Given the description of an element on the screen output the (x, y) to click on. 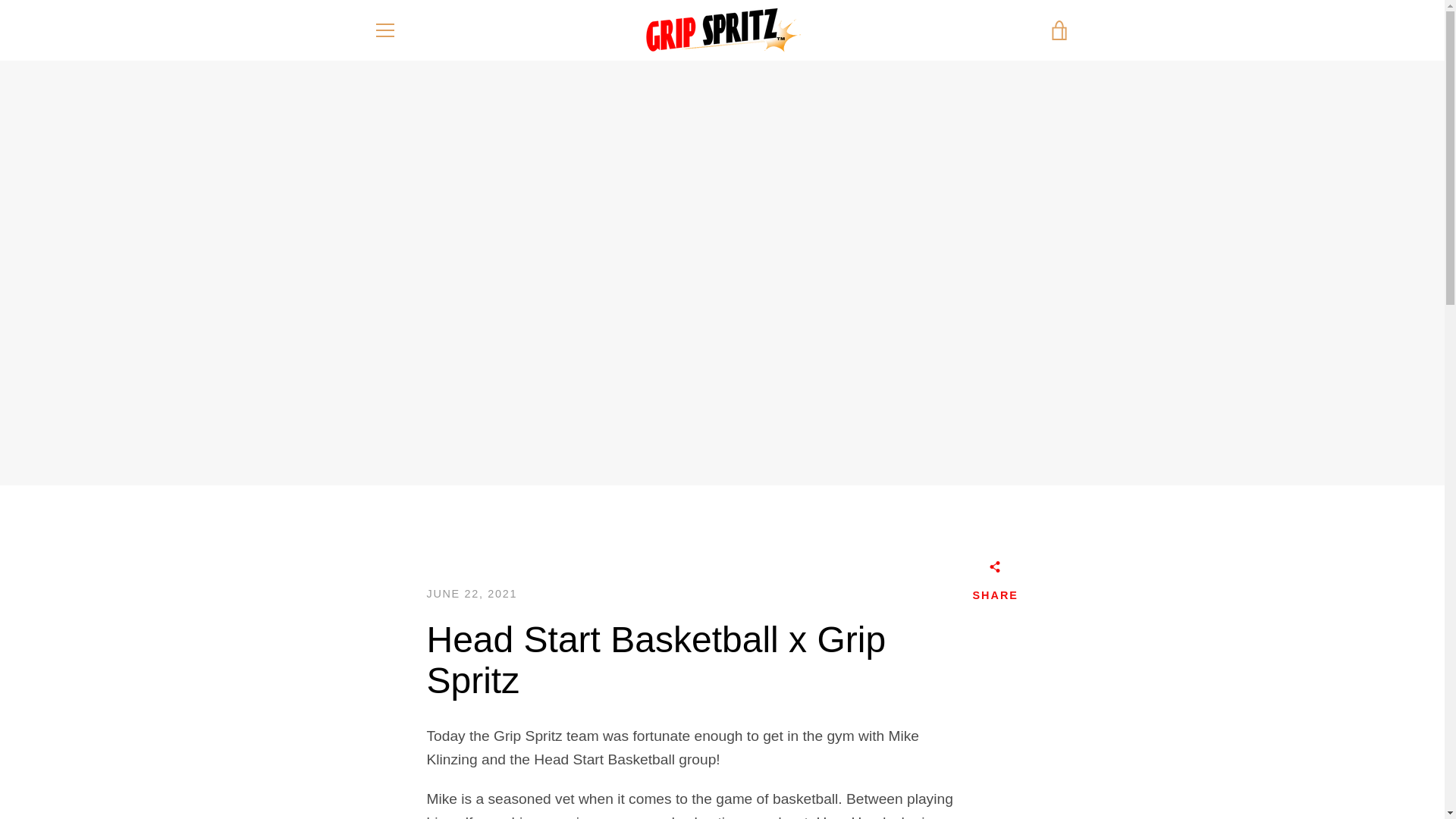
SHARE (994, 584)
MENU (384, 30)
VIEW CART (1059, 30)
